Given the description of an element on the screen output the (x, y) to click on. 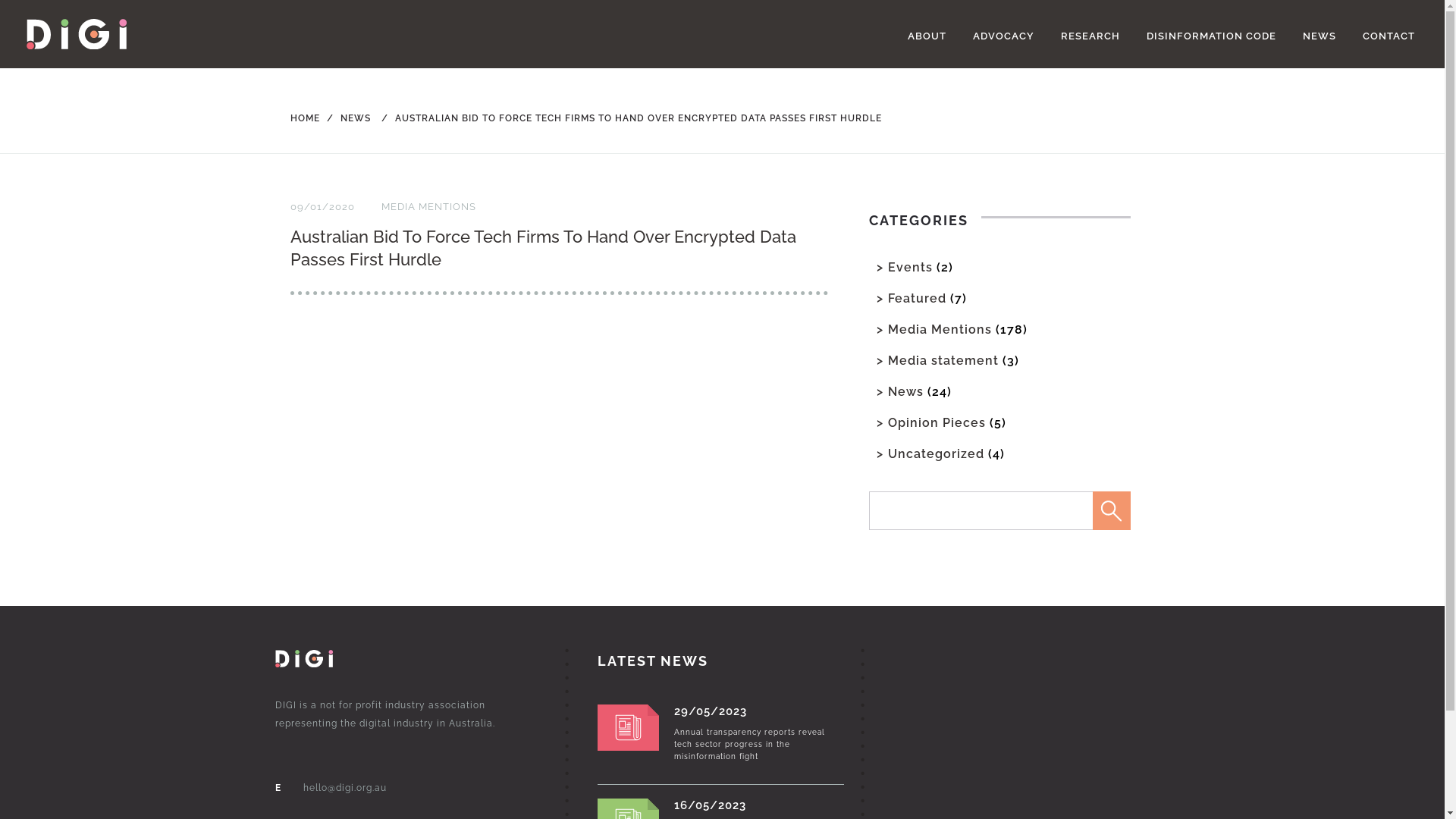
Opinion Pieces Element type: text (936, 422)
Media statement Element type: text (942, 360)
ADVOCACY Element type: text (1003, 35)
HOME Element type: text (304, 117)
Events Element type: text (909, 267)
Uncategorized Element type: text (935, 453)
Media Mentions Element type: text (939, 329)
NEWS Element type: text (1319, 35)
NEWS Element type: text (345, 117)
hello@digi.org.au Element type: text (344, 787)
ABOUT Element type: text (926, 35)
Featured Element type: text (916, 298)
News Element type: text (904, 391)
CONTACT Element type: text (1388, 35)
DISINFORMATION CODE Element type: text (1211, 35)
RESEARCH Element type: text (1090, 35)
